Given the description of an element on the screen output the (x, y) to click on. 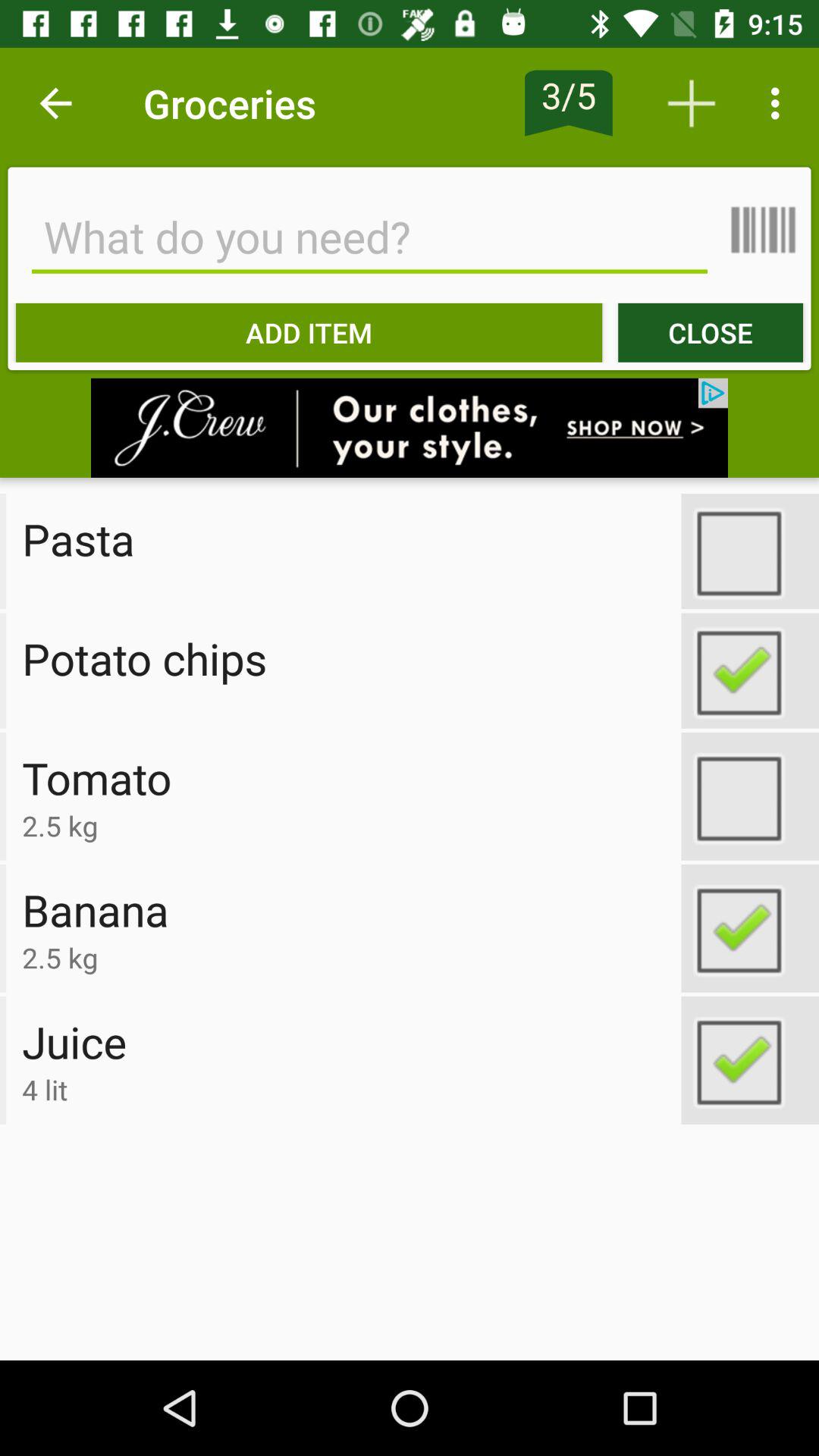
go to advertisement (409, 427)
